Given the description of an element on the screen output the (x, y) to click on. 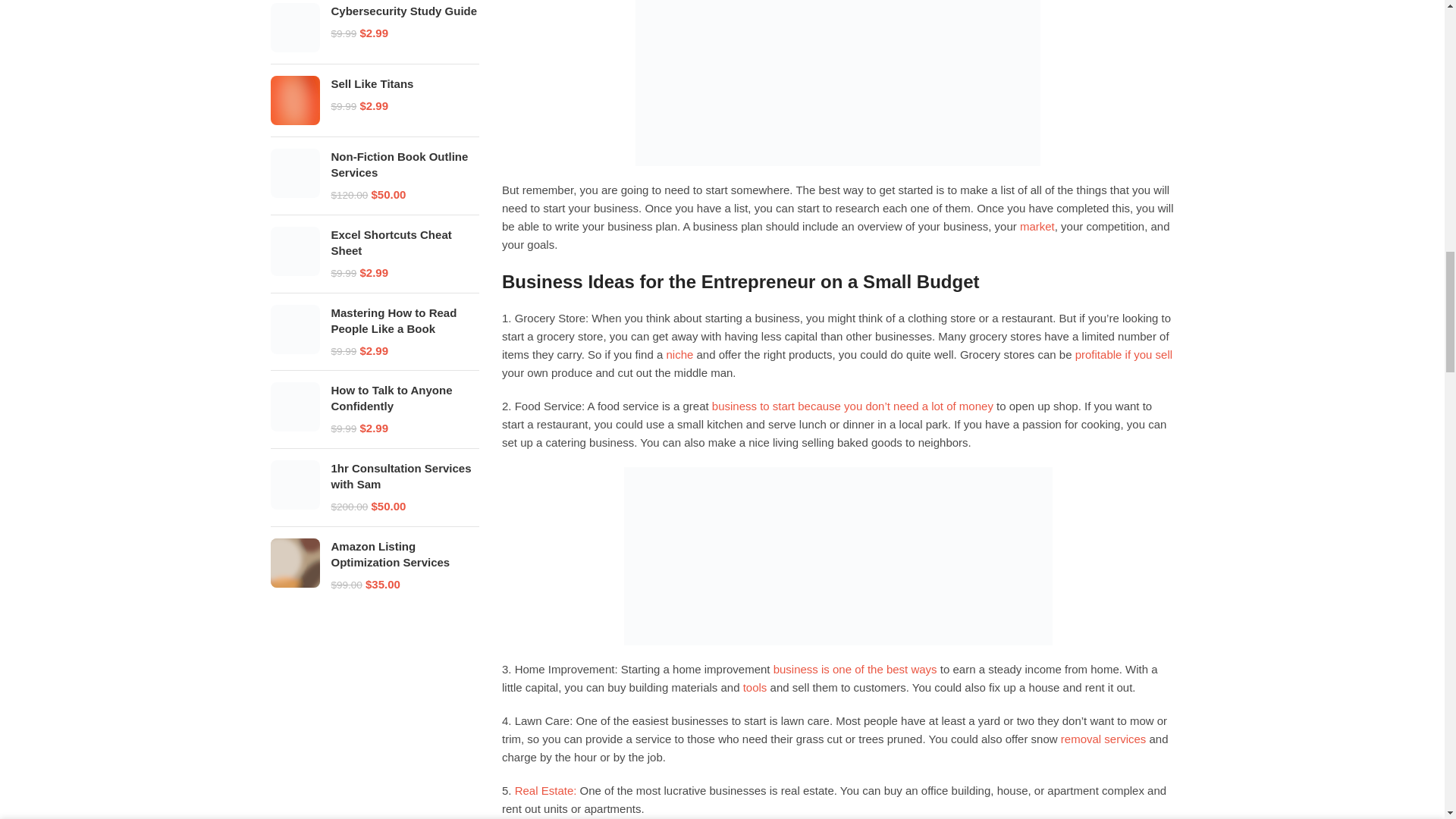
profitable if you sell (1123, 354)
market (1037, 226)
niche (679, 354)
